Given the description of an element on the screen output the (x, y) to click on. 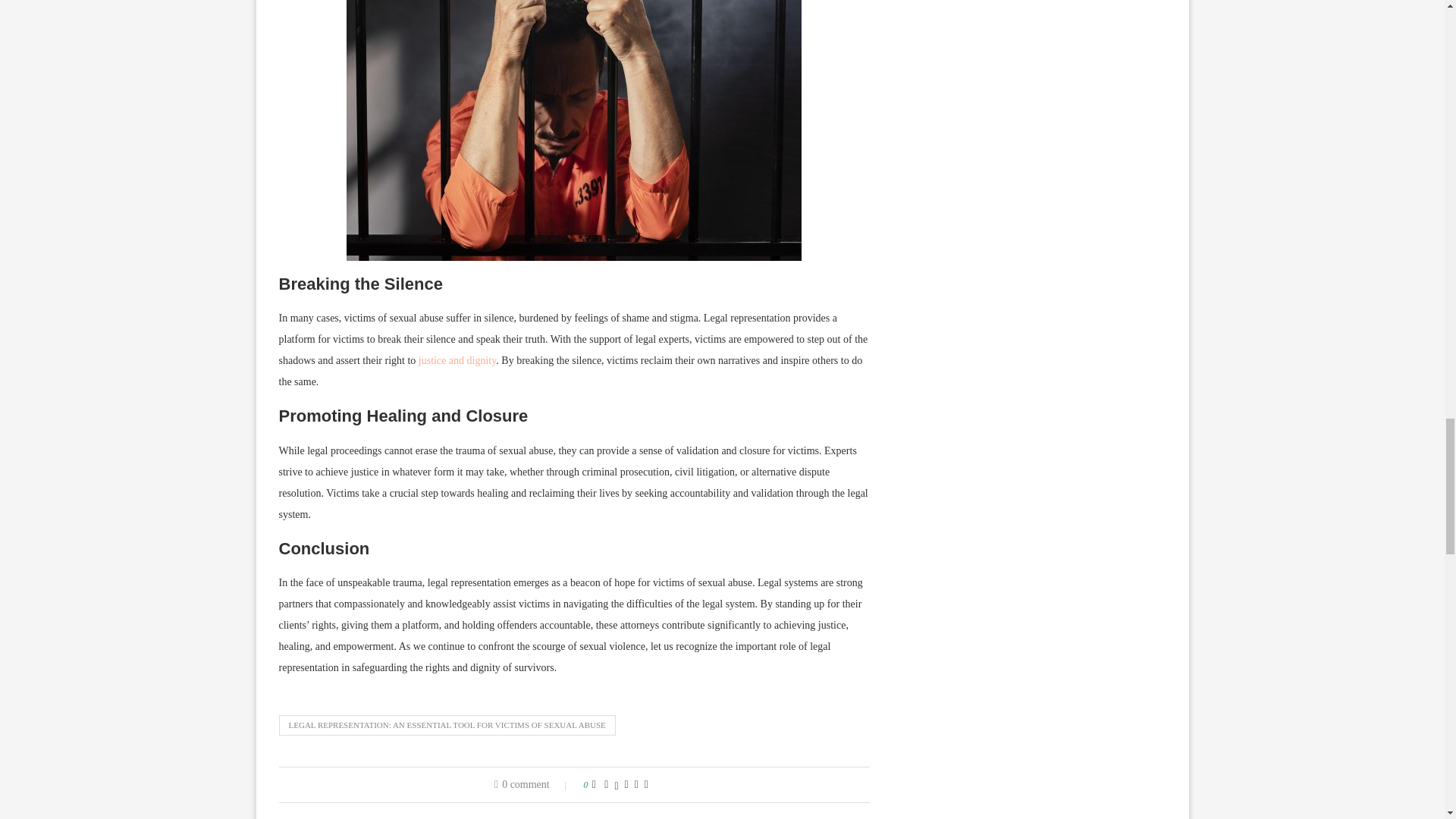
justice and dignity (457, 360)
